Given the description of an element on the screen output the (x, y) to click on. 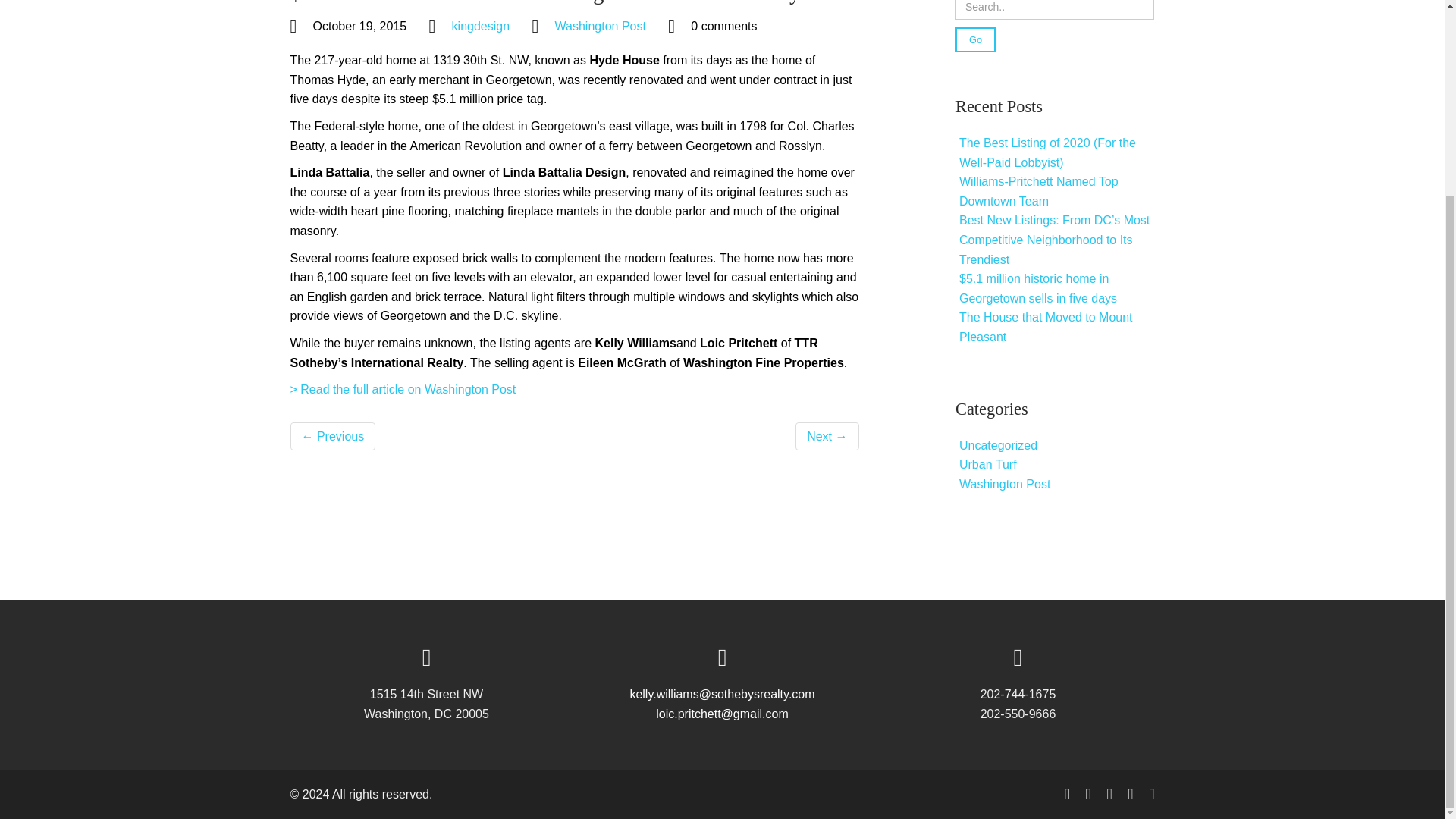
Posts by kingdesign (481, 25)
Washington Post (600, 25)
Uncategorized (997, 445)
Go (975, 39)
Go (975, 39)
The House that Moved to Mount Pleasant (1045, 327)
kingdesign (481, 25)
Williams-Pritchett Named Top Downtown Team (1038, 191)
Urban Turf (987, 463)
Washington Post (1004, 483)
Go (975, 39)
